Given the description of an element on the screen output the (x, y) to click on. 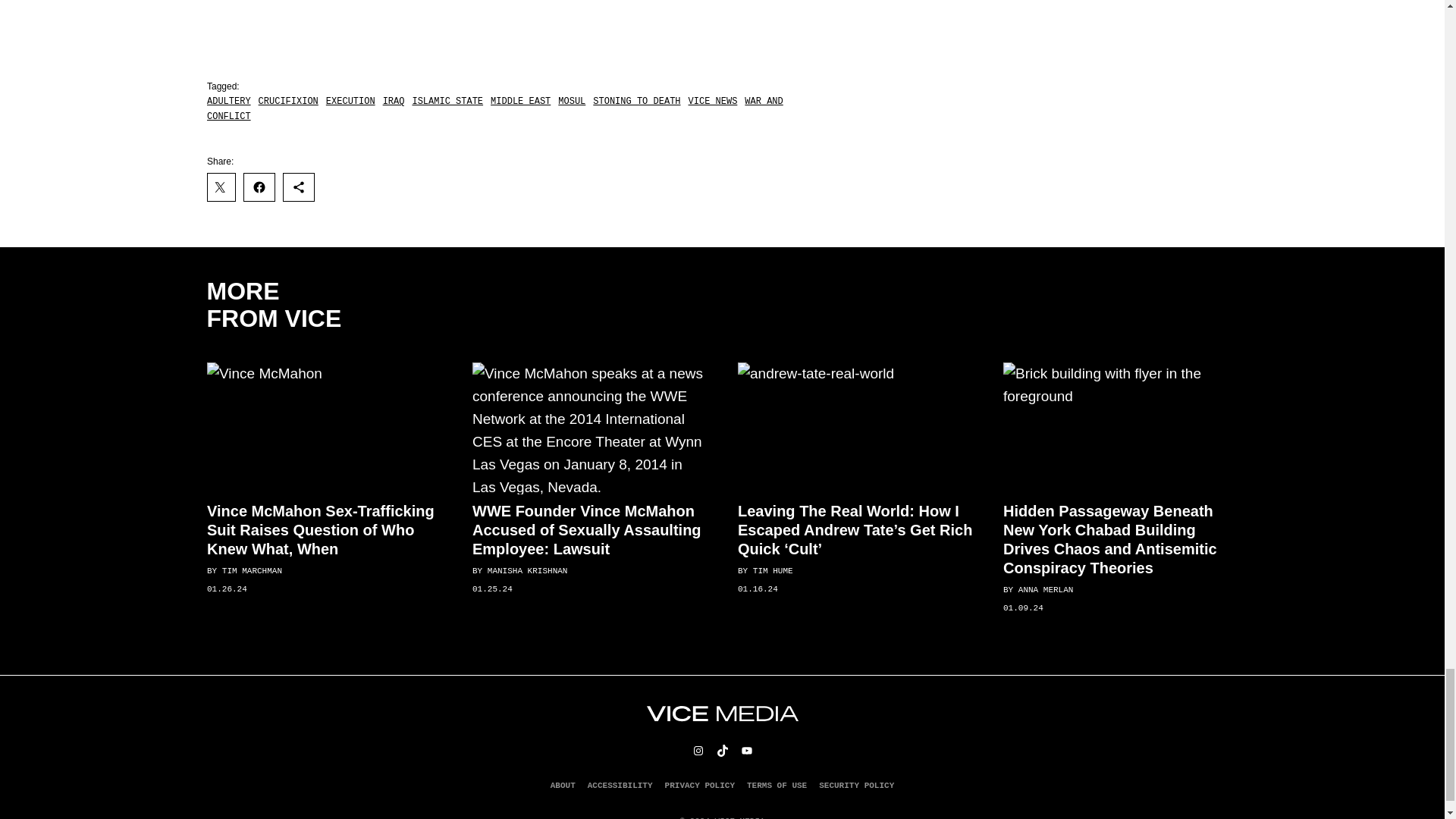
Posts by Tim Marchman (251, 570)
Posts by Tim Hume (772, 570)
Posts by Anna Merlan (1045, 589)
Posts by Manisha Krishnan (526, 570)
